Given the description of an element on the screen output the (x, y) to click on. 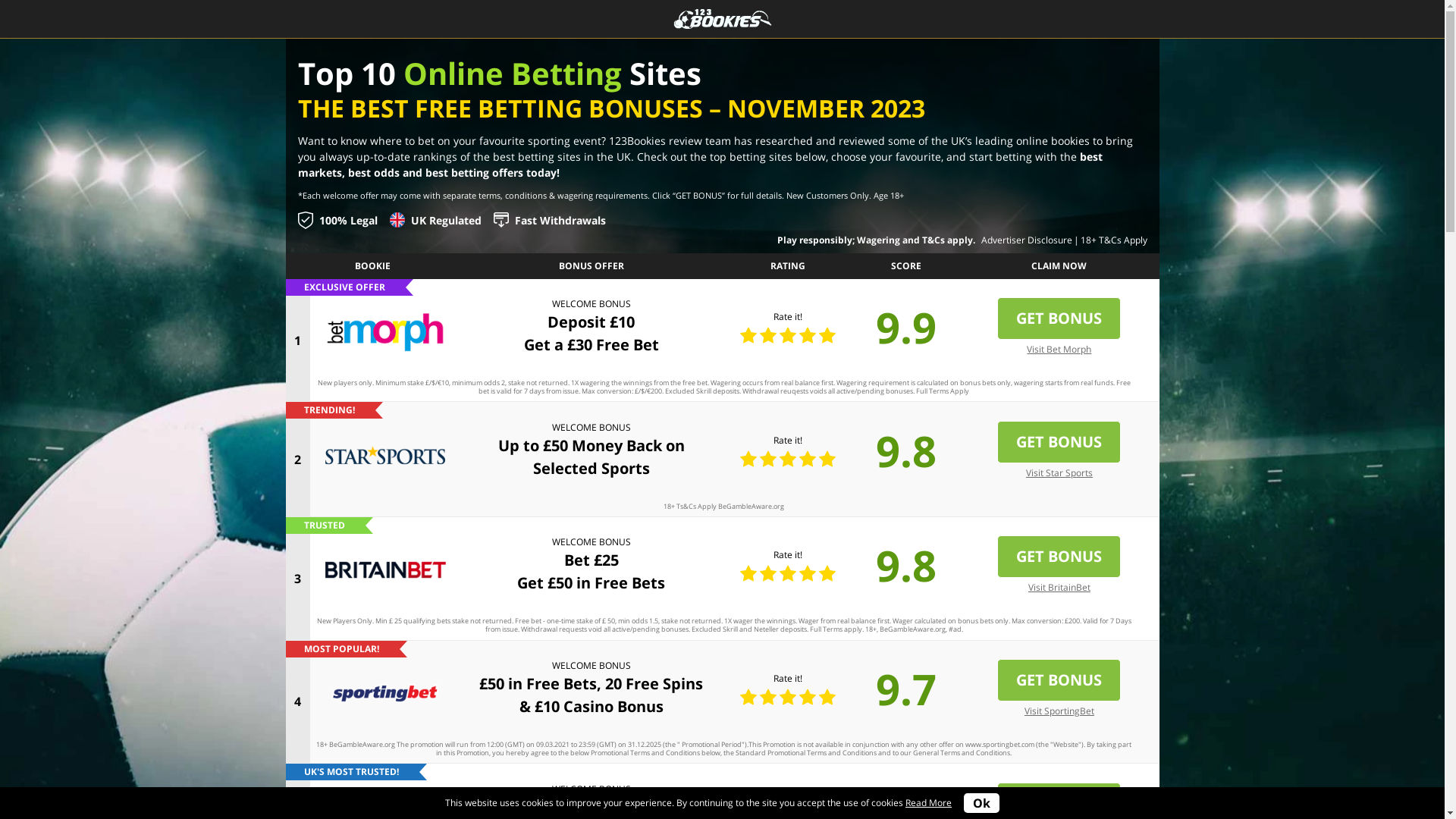
Ok Element type: text (981, 802)
GET BONUS Element type: text (1058, 679)
Read More Element type: text (928, 802)
Visit BritainBet Element type: text (1059, 587)
Visit SportingBet Element type: text (1059, 711)
GET BONUS Element type: text (1058, 318)
GET BONUS Element type: text (1058, 441)
Visit Star Sports Element type: text (1059, 473)
GET BONUS Element type: text (1058, 556)
Visit Bet Morph Element type: text (1058, 349)
